Given the description of an element on the screen output the (x, y) to click on. 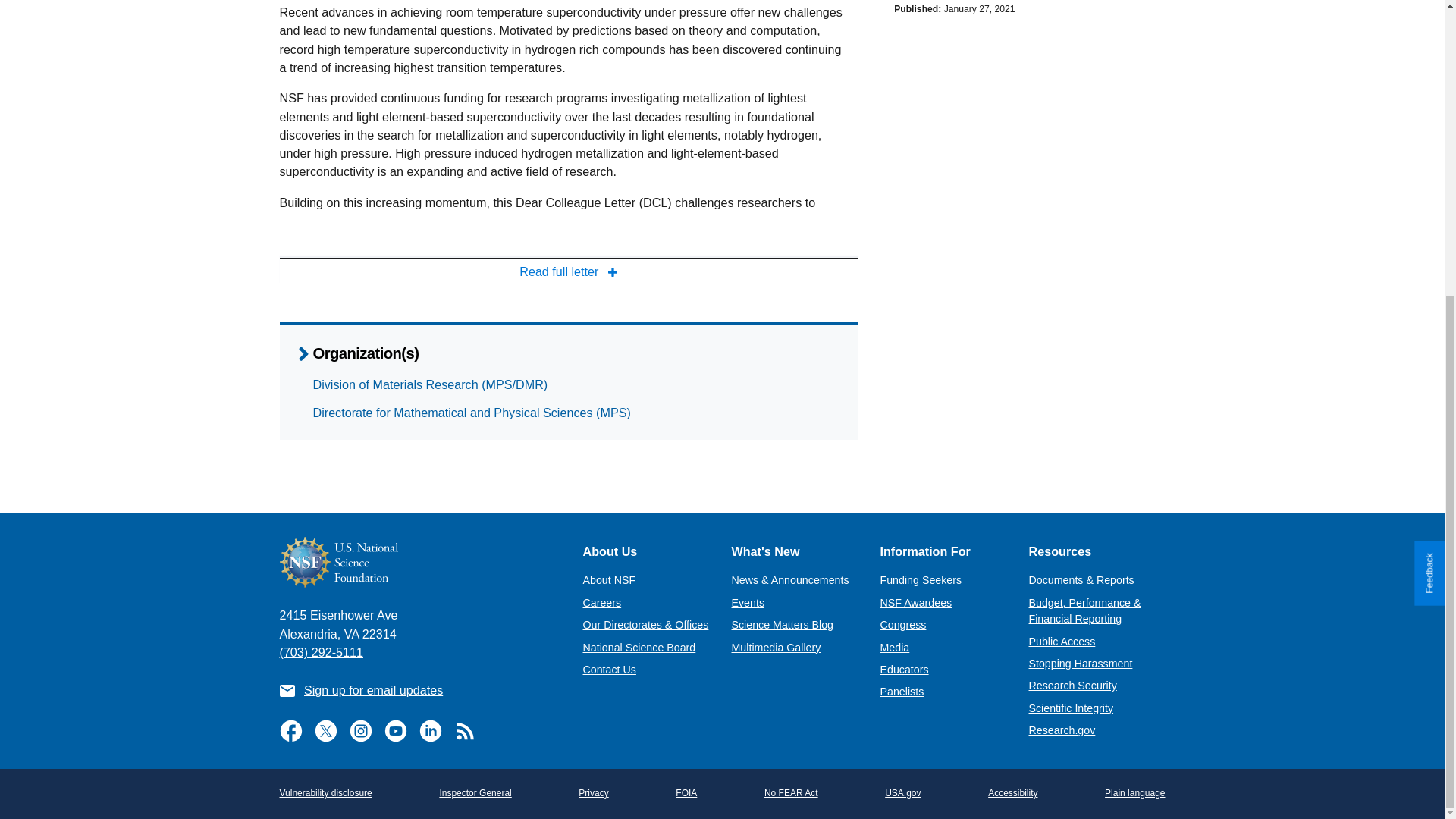
NSF - National Science Foundation - Home (418, 562)
Sign up for email updates (373, 689)
Careers (601, 603)
About NSF (608, 580)
Read full letter (568, 271)
